Given the description of an element on the screen output the (x, y) to click on. 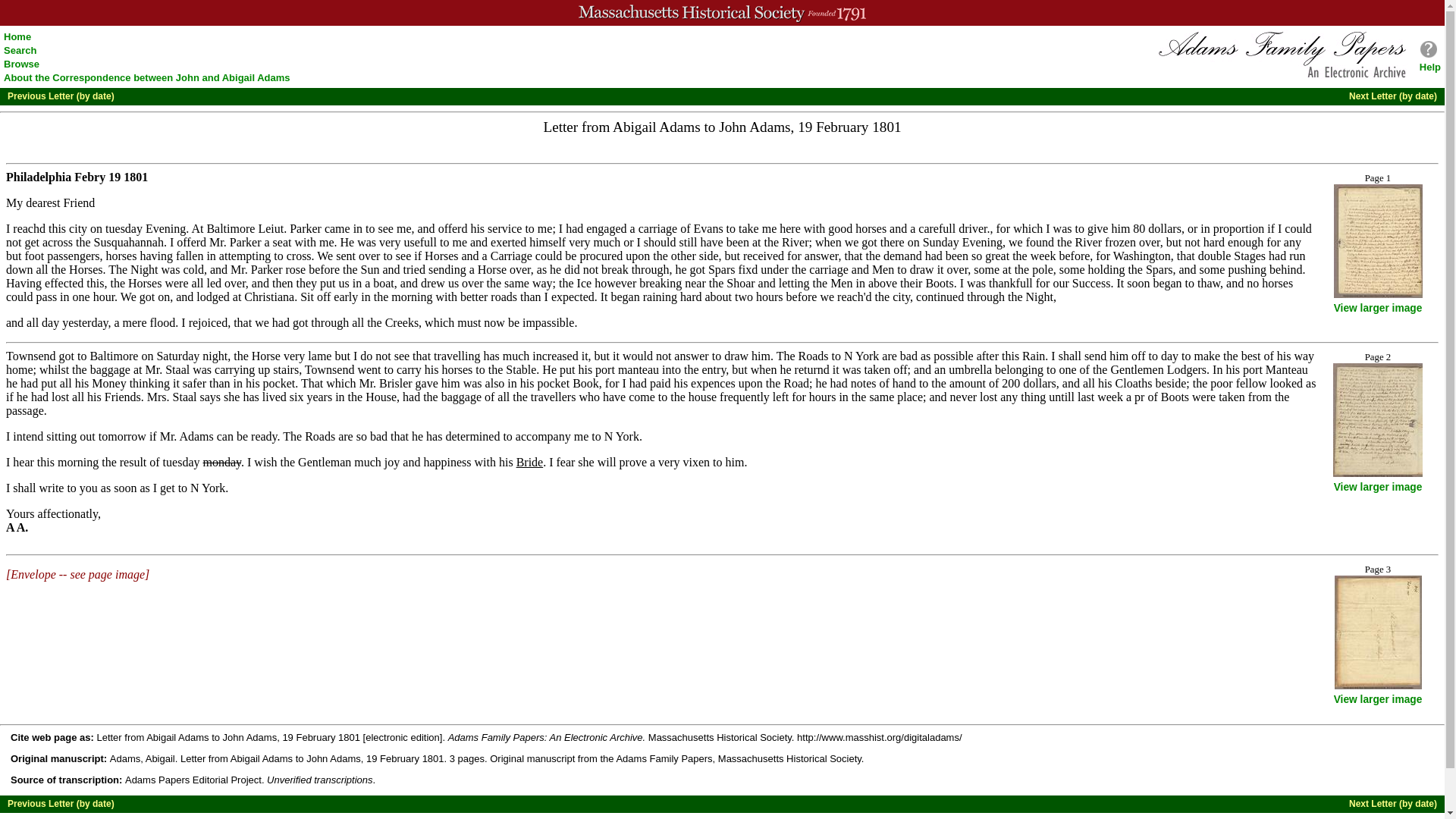
Shore (740, 282)
Browse (21, 63)
1801-02-19 (111, 176)
View larger image (1377, 307)
useful (419, 241)
Lieutenant (271, 228)
offered (191, 241)
New York (861, 355)
1801-02-19 (849, 126)
About the Correspondence between John and Abigail Adams (146, 77)
